Given the description of an element on the screen output the (x, y) to click on. 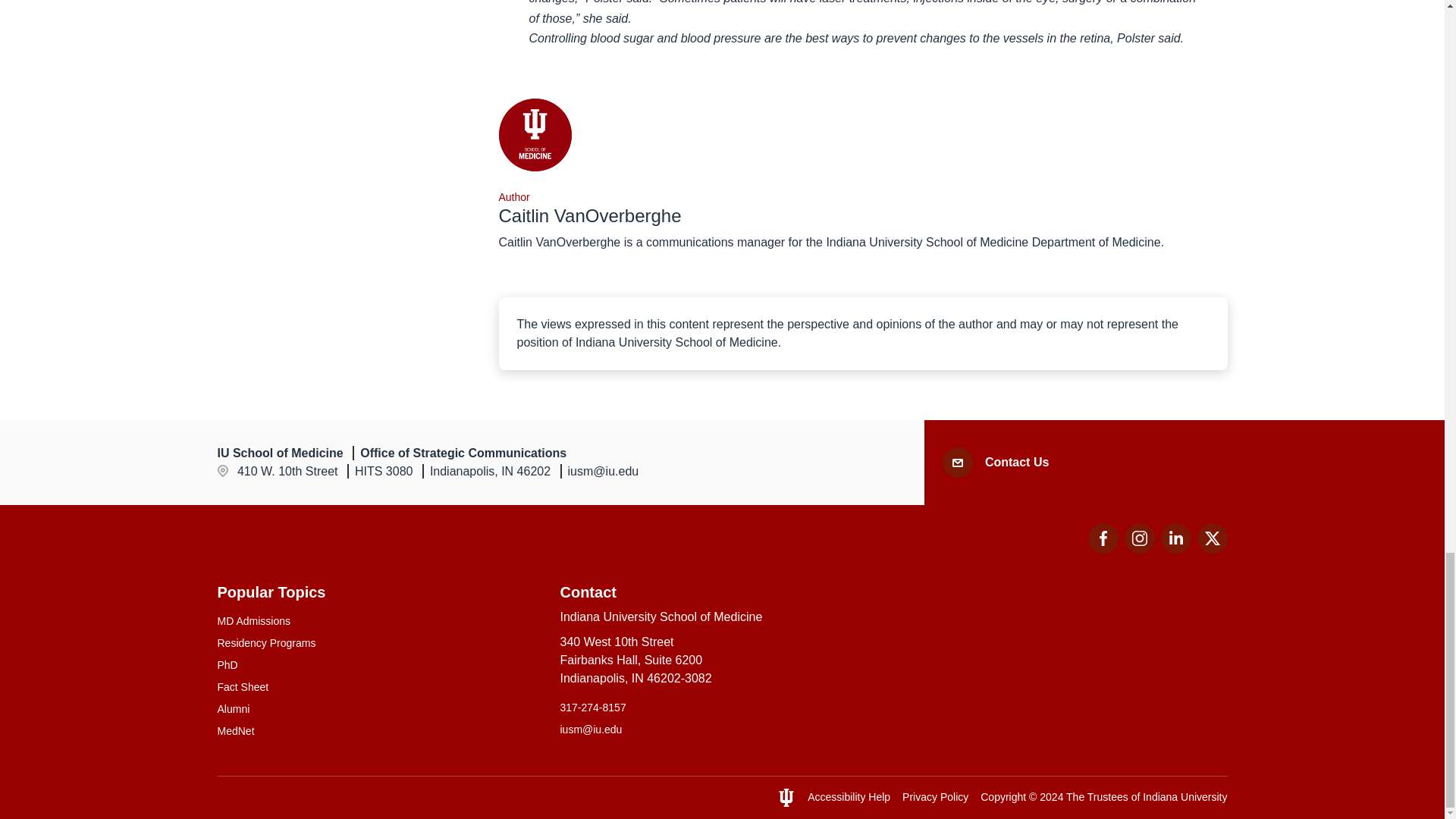
317-274-8157 (721, 707)
PhD (378, 665)
Twitter (1211, 538)
MD Admissions (378, 621)
Copyright (1002, 797)
Privacy Policy (935, 797)
MedNet (378, 731)
LinkedIn (1175, 549)
Fact Sheet (1175, 538)
